Given the description of an element on the screen output the (x, y) to click on. 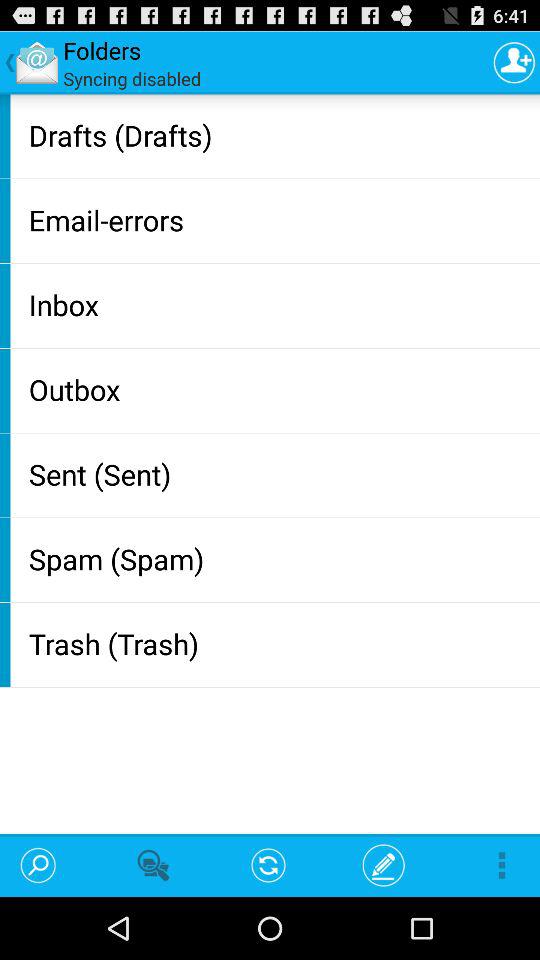
tap the icon next to the syncing disabled app (514, 62)
